Given the description of an element on the screen output the (x, y) to click on. 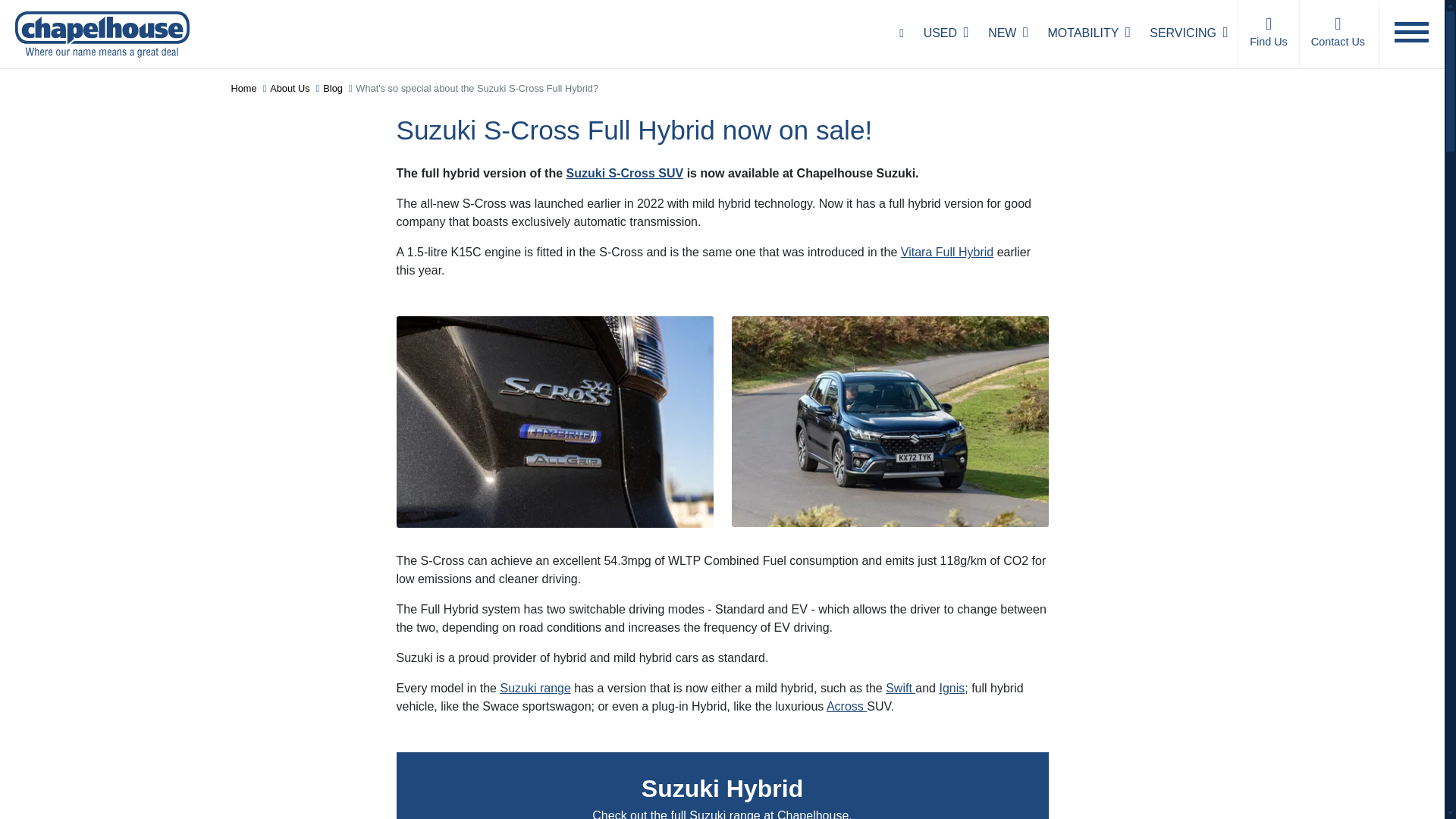
Contact Us (1336, 33)
MOTABILITY (1089, 33)
Find Us (1267, 33)
USED (946, 33)
SERVICING (1188, 33)
